Given the description of an element on the screen output the (x, y) to click on. 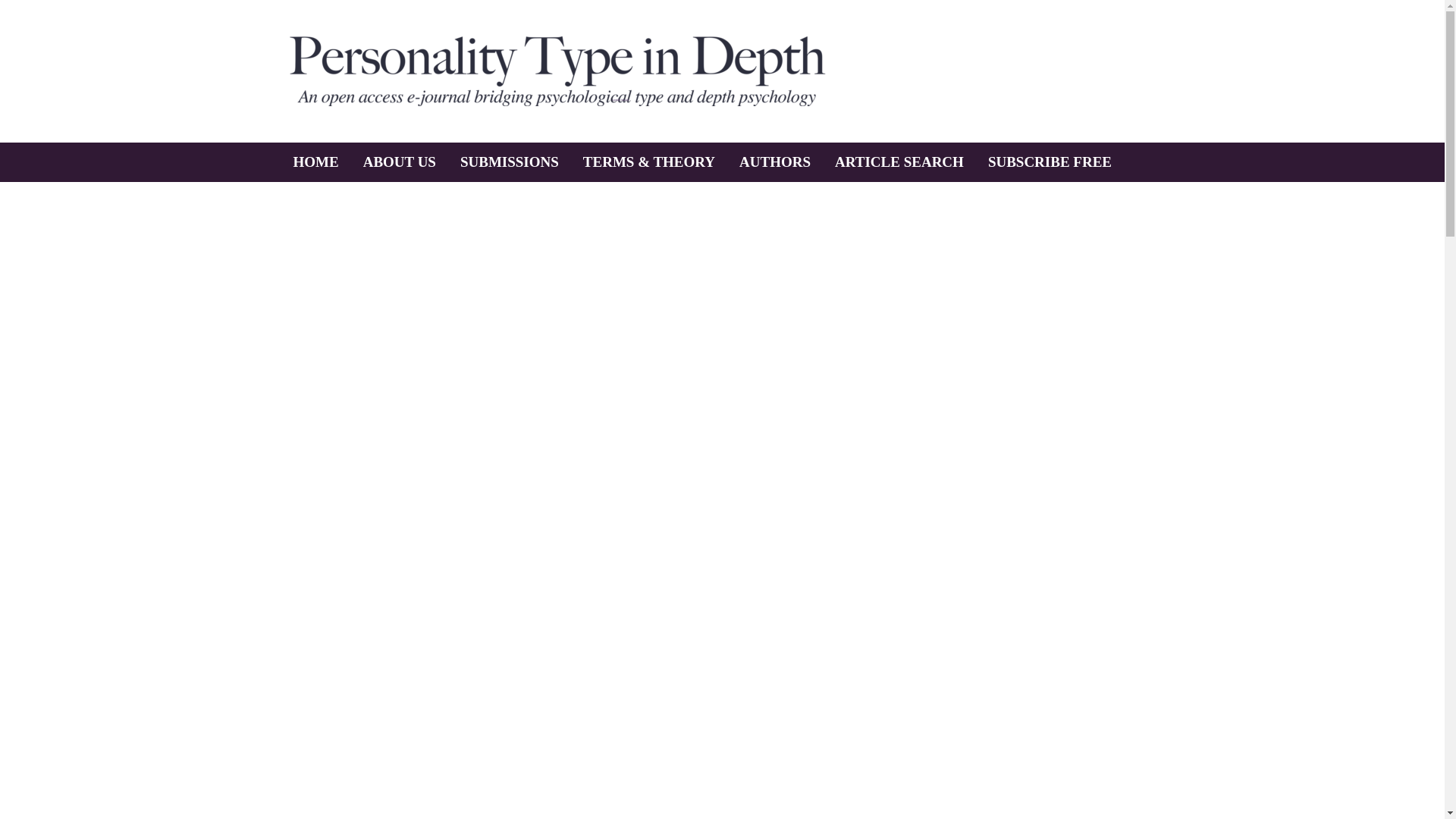
AUTHORS (774, 161)
HOME (315, 161)
ARTICLE SEARCH (898, 161)
Home (557, 71)
SUBMISSIONS (509, 161)
ABOUT US (399, 161)
SUBSCRIBE FREE (1049, 161)
